Given the description of an element on the screen output the (x, y) to click on. 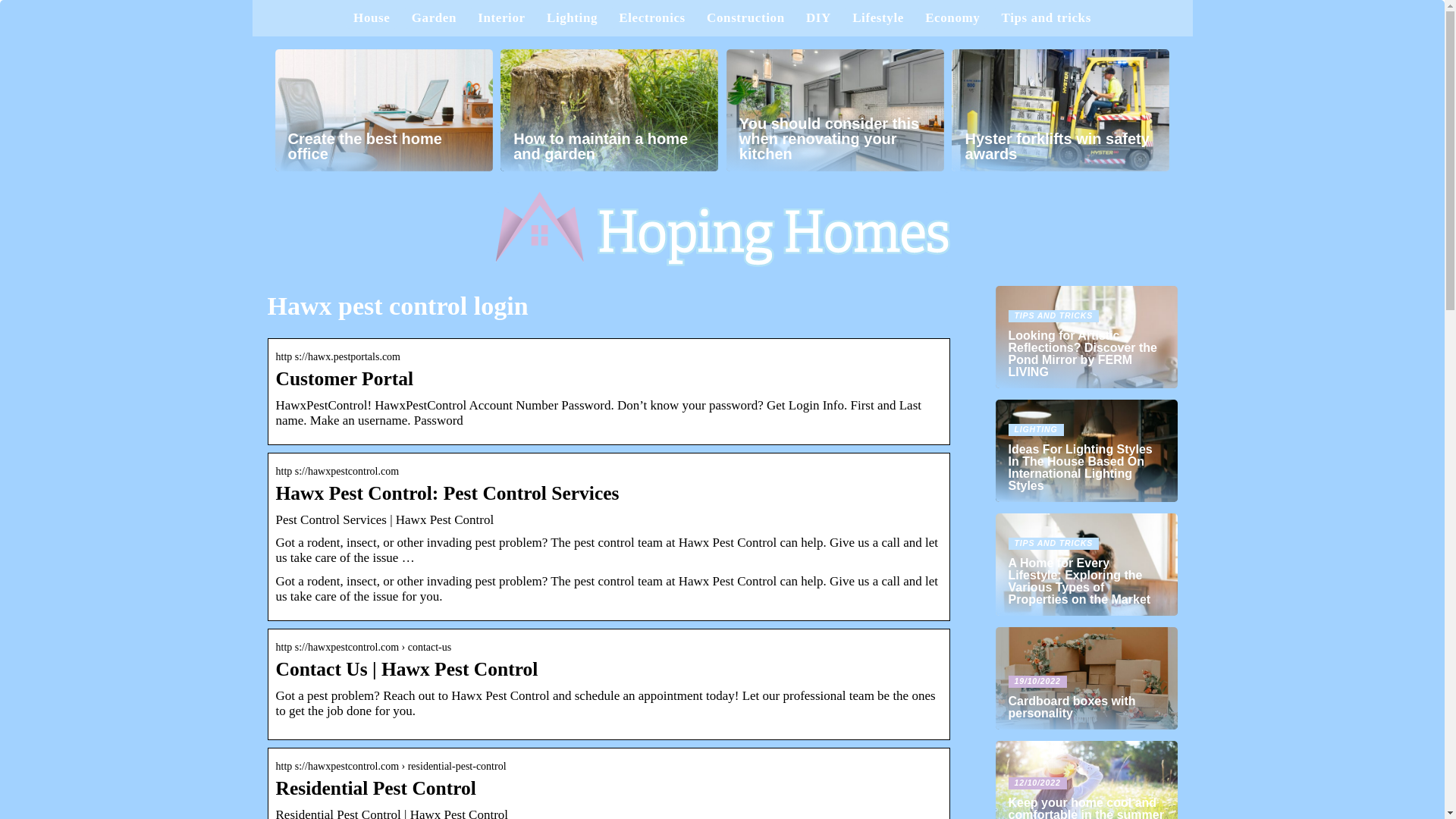
Construction (745, 17)
House (371, 17)
Hyster forklifts win safety awards (1060, 110)
DIY (818, 17)
Garden (434, 17)
How to maintain a home and garden (608, 110)
Economy (951, 17)
Create the best home office (383, 110)
